Given the description of an element on the screen output the (x, y) to click on. 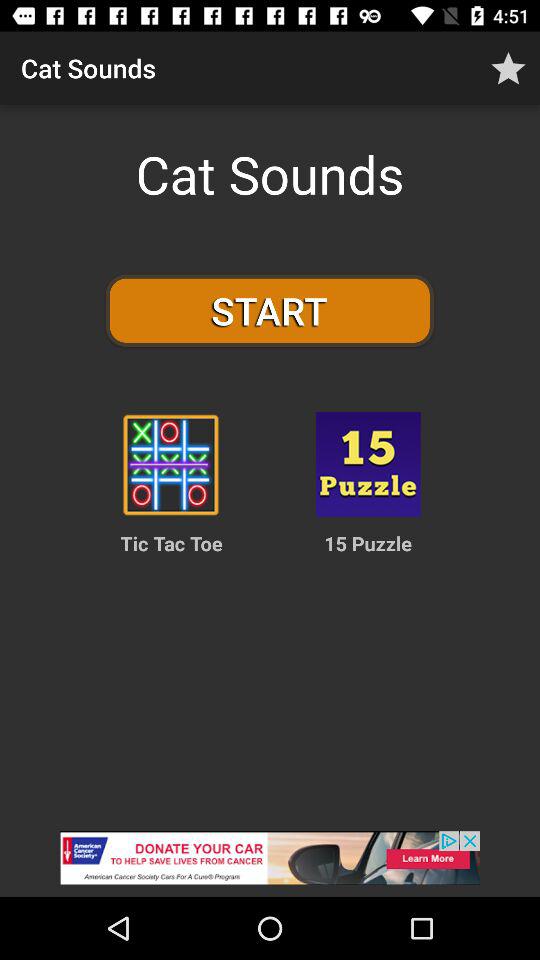
15 puzzle (367, 464)
